Given the description of an element on the screen output the (x, y) to click on. 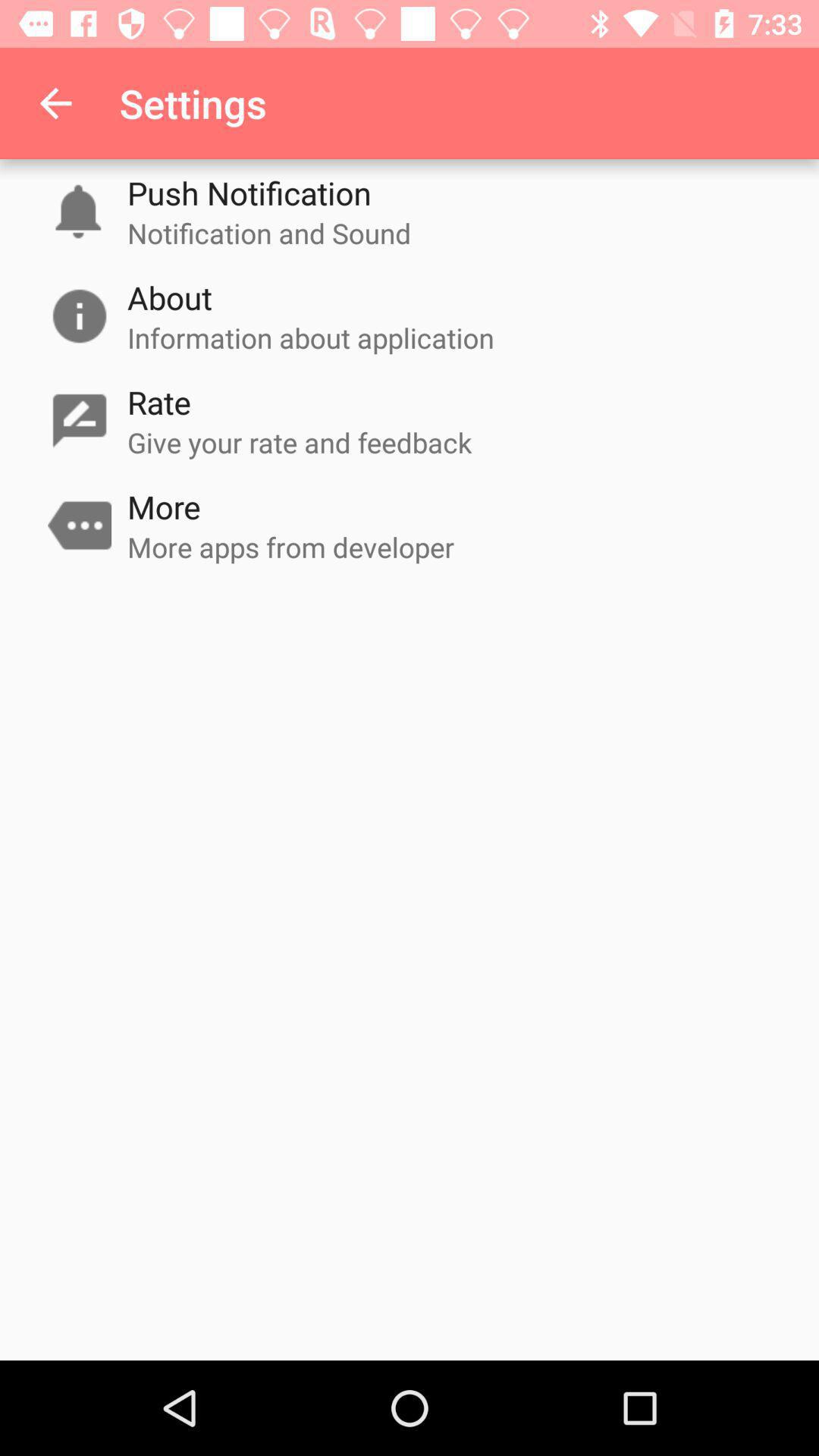
tap the item below push notification item (269, 232)
